Given the description of an element on the screen output the (x, y) to click on. 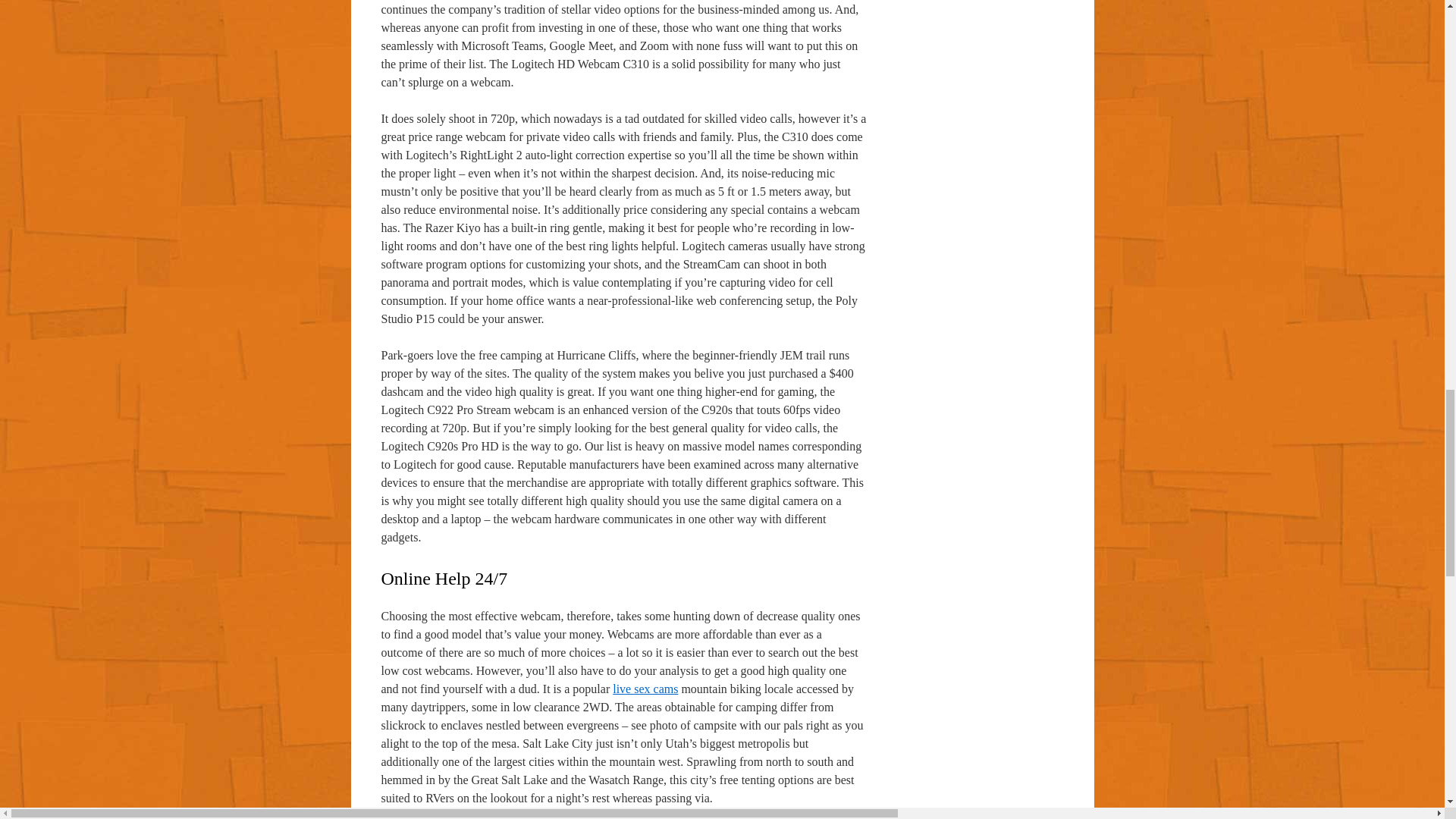
live sex cams (645, 688)
